Given the description of an element on the screen output the (x, y) to click on. 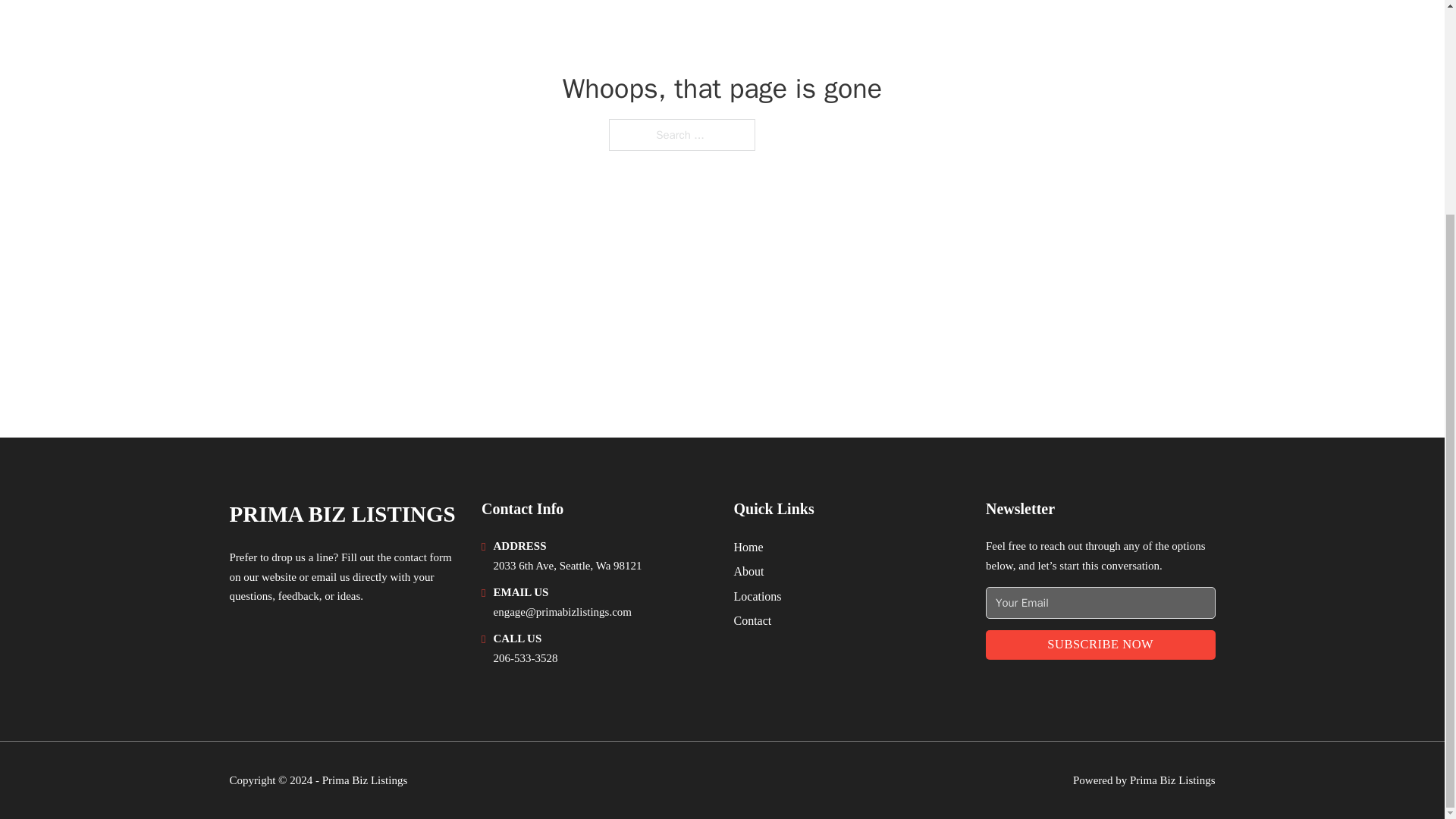
206-533-3528 (525, 657)
Contact (752, 620)
Home (747, 547)
Locations (757, 596)
PRIMA BIZ LISTINGS (341, 514)
SUBSCRIBE NOW (1100, 644)
About (748, 571)
